Given the description of an element on the screen output the (x, y) to click on. 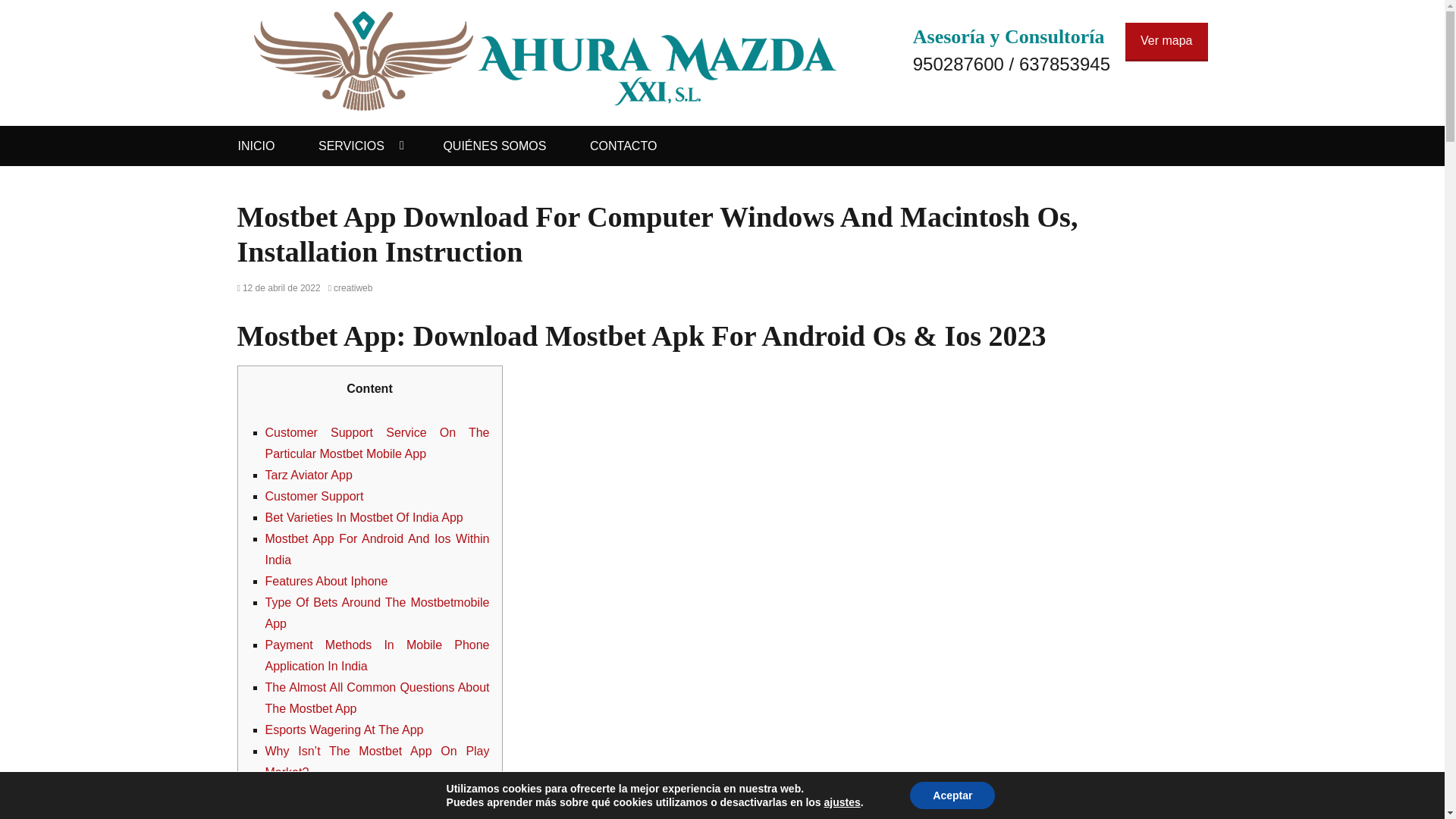
Mostbet App For Android And Ios Within India (376, 549)
The Almost All Common Questions About The Mostbet App (376, 697)
Tarz Aviator App (308, 474)
creatiweb (350, 287)
Bet Varieties In Mostbet Of India App (363, 517)
Esports Wagering At The App (343, 729)
AHURA MAZDA SL (386, 38)
Type Of Bets Around The Mostbetmobile App (376, 612)
CONTACTO (623, 146)
How To Install Mostbet Application On Iphone (376, 803)
Payment Methods In Mobile Phone Application In India (376, 655)
SERVICIOS (358, 146)
12 de abril de 2022 (277, 287)
Customer Support (314, 495)
INICIO (255, 146)
